Given the description of an element on the screen output the (x, y) to click on. 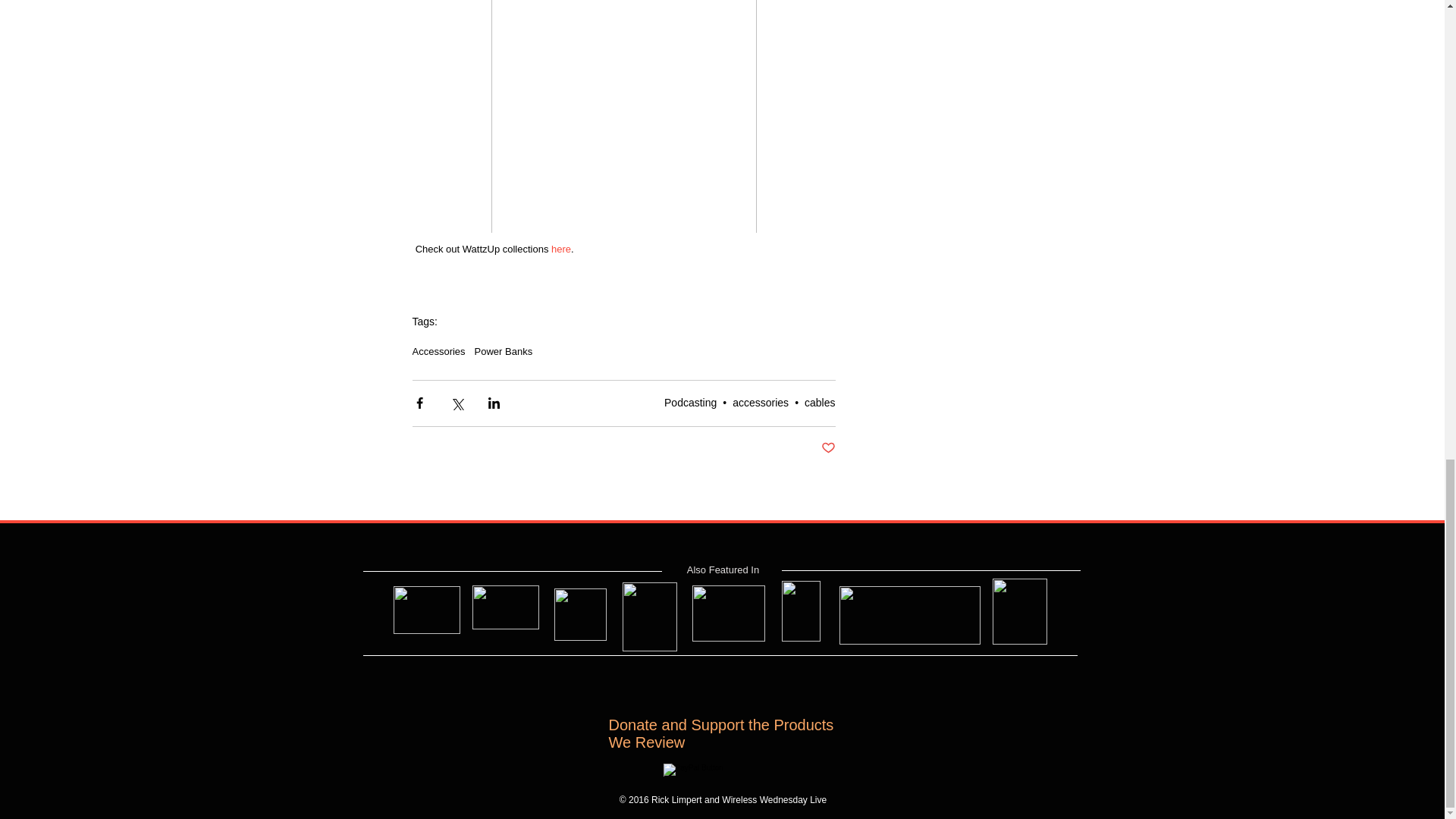
WWL17.jpg (908, 615)
accessories (760, 402)
cables (819, 402)
WWL15.jpg (727, 613)
here (560, 248)
Power Banks (503, 351)
WWL13.jpg (579, 614)
Podcasting (689, 402)
sam crenshaw3.jpg (426, 609)
WWL14.jpg (649, 616)
experience11.jpg (1018, 611)
WWL16.jpg (799, 610)
WWL12.jpg (504, 607)
Accessories (438, 351)
Post not marked as liked (827, 448)
